Given the description of an element on the screen output the (x, y) to click on. 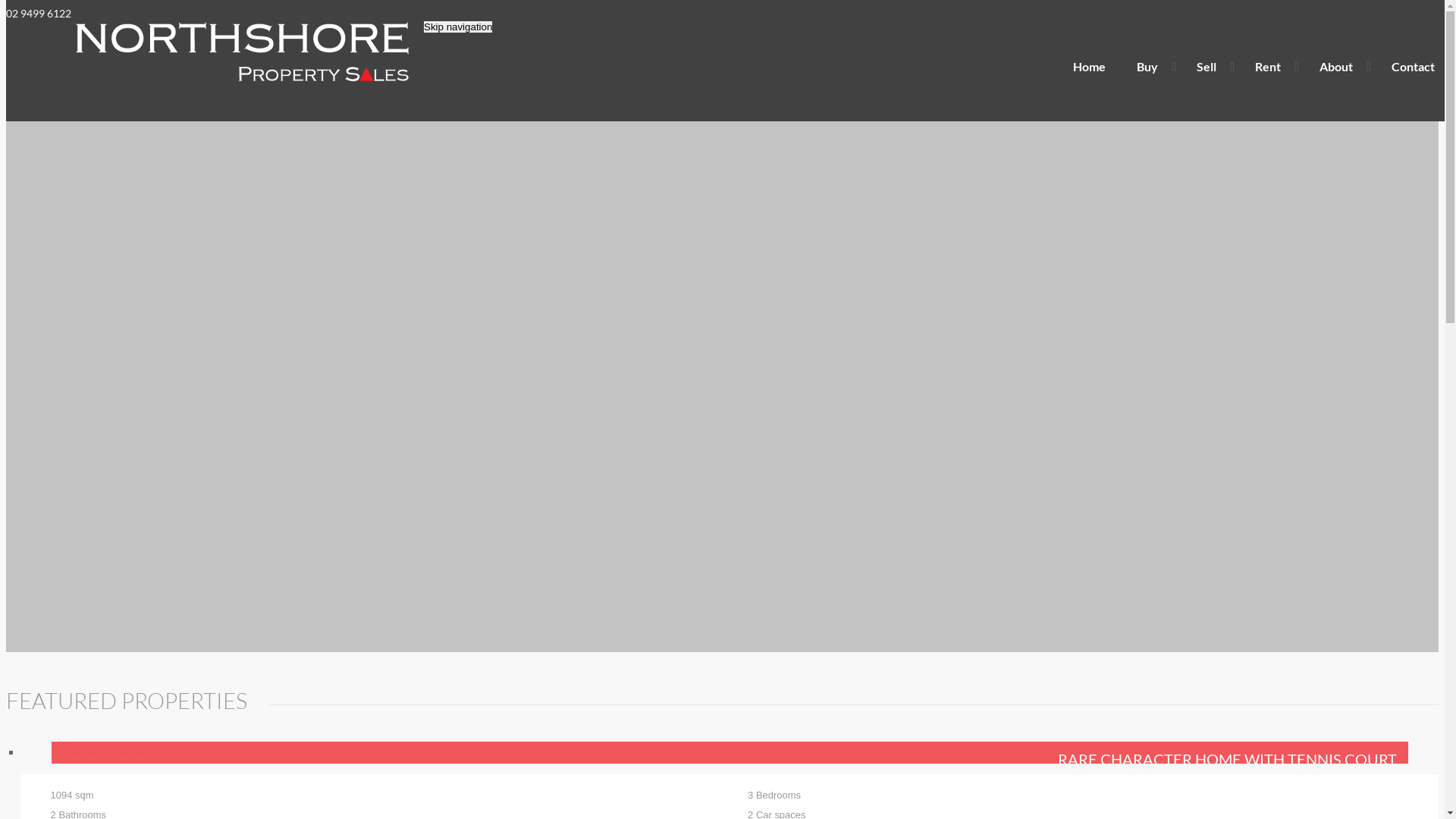
Buy Element type: text (1150, 66)
Rent Element type: text (1271, 66)
Skip navigation Element type: text (457, 26)
Contact Element type: text (1412, 66)
About Element type: text (1339, 66)
02 9499 6122 Element type: text (38, 12)
Sell Element type: text (1210, 66)
Home Element type: text (1088, 66)
RARE CHARACTER HOME WITH TENNIS COURT Element type: text (729, 752)
